Given the description of an element on the screen output the (x, y) to click on. 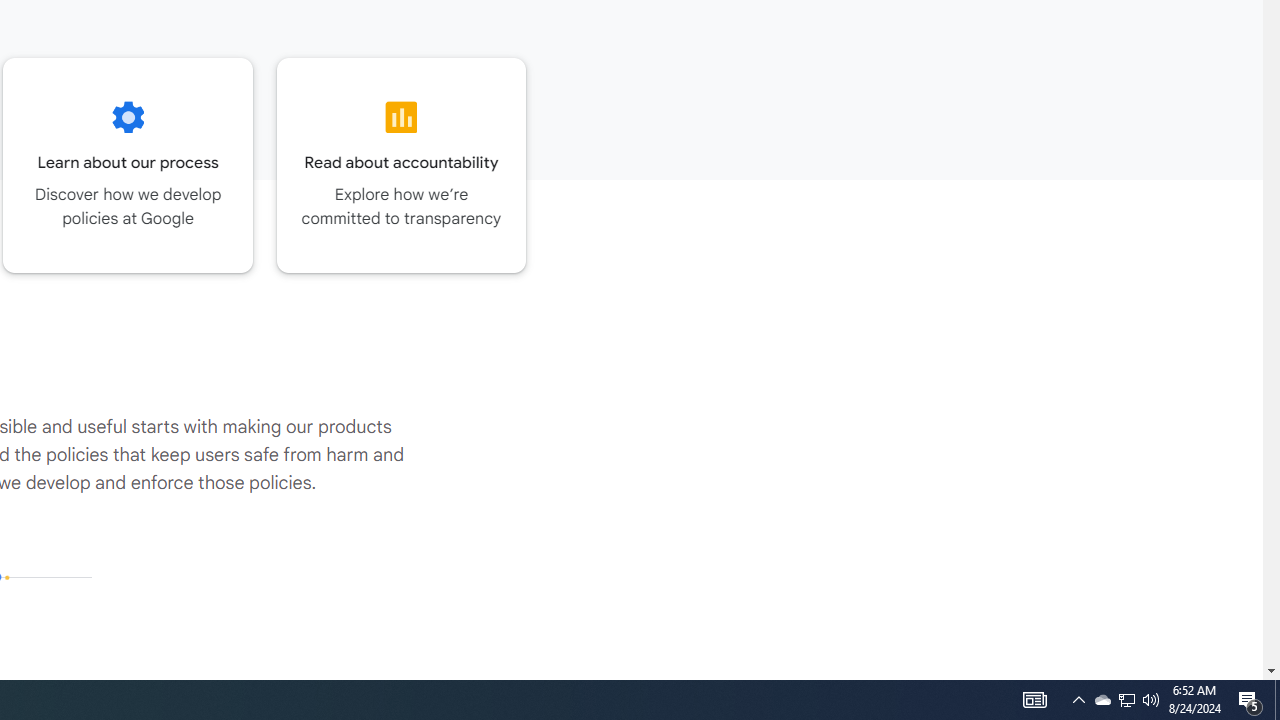
Go to the Accountability page (401, 165)
Go to the Our process page (127, 165)
